Given the description of an element on the screen output the (x, y) to click on. 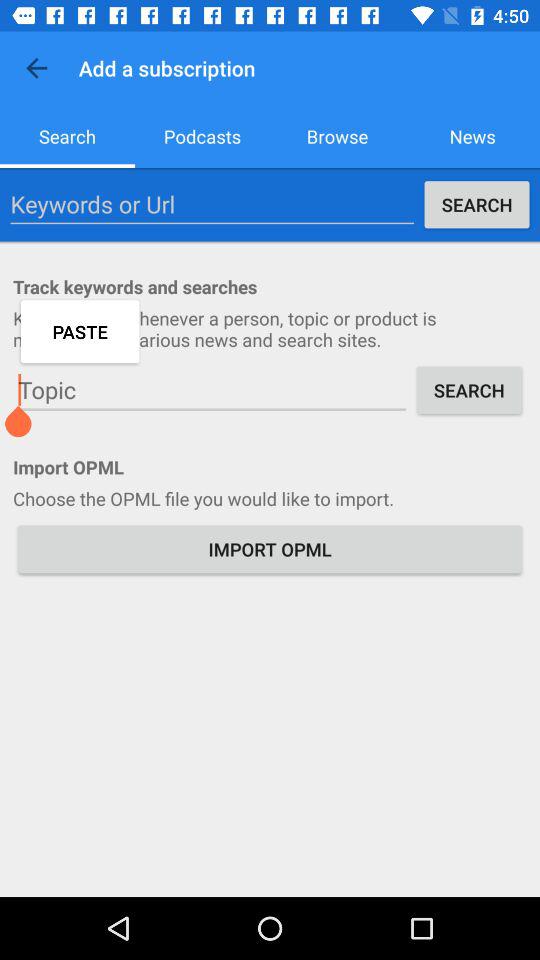
tap icon to the left of search item (212, 204)
